Given the description of an element on the screen output the (x, y) to click on. 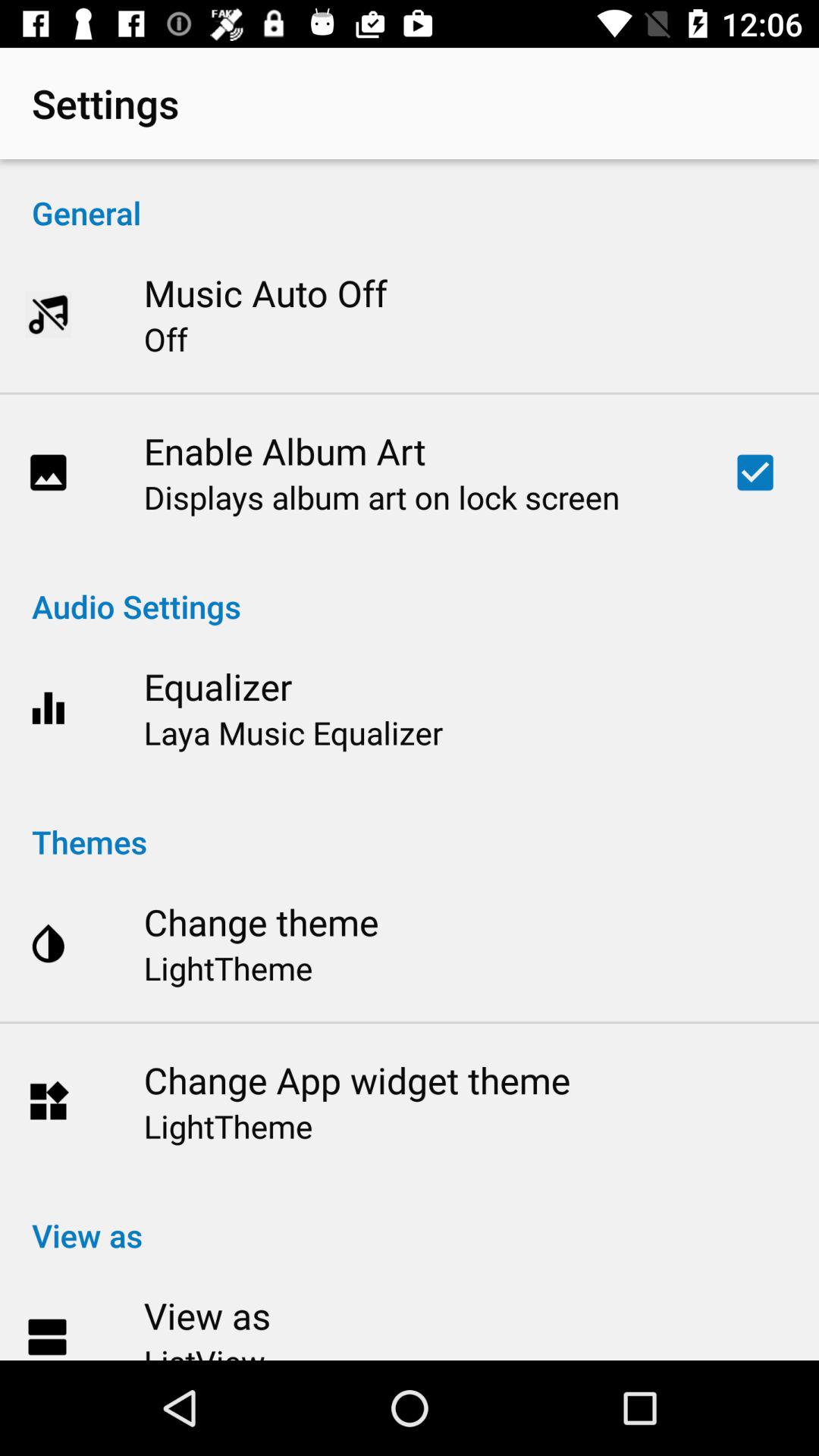
launch the item below the lighttheme (356, 1079)
